Given the description of an element on the screen output the (x, y) to click on. 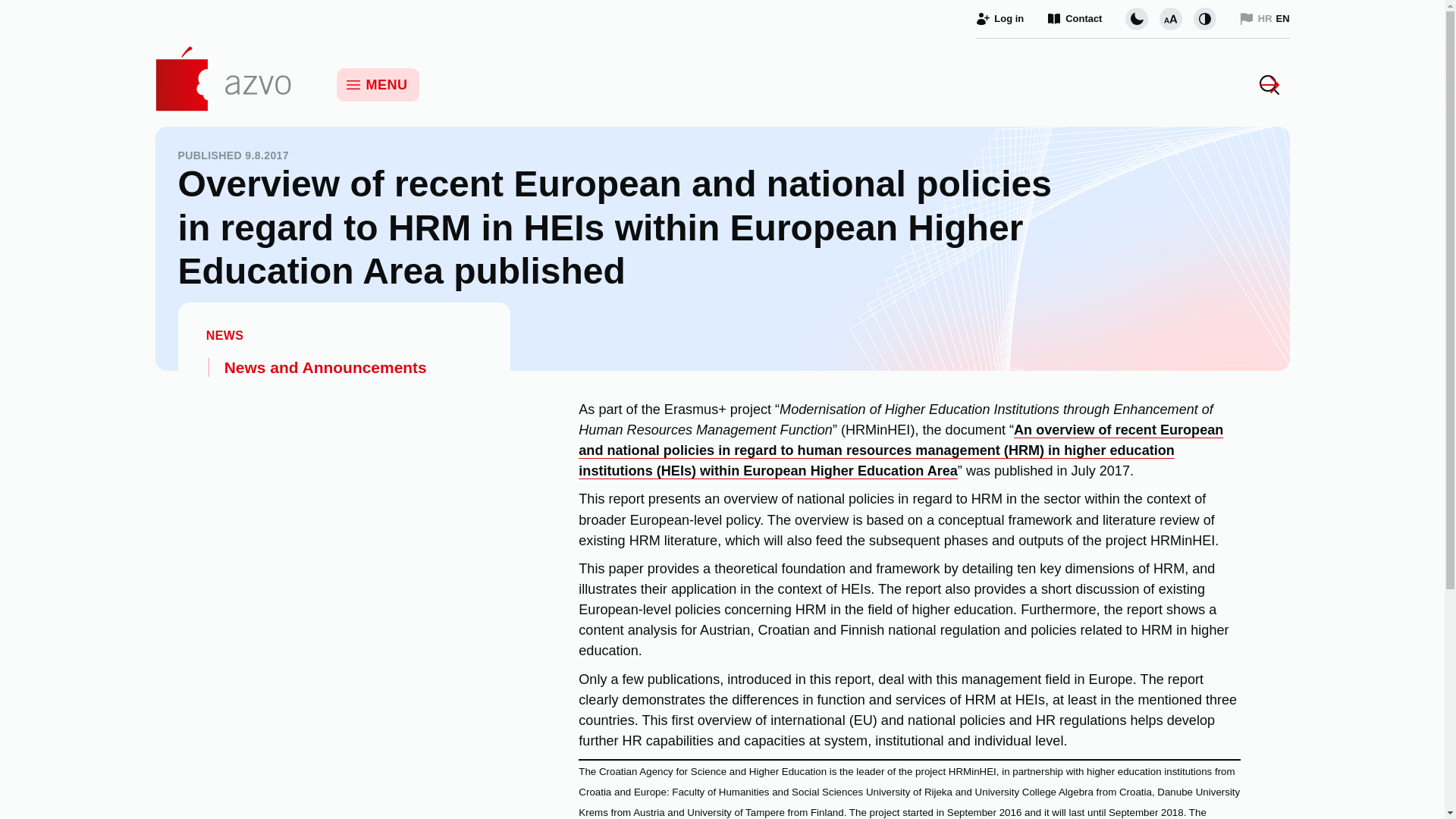
HR (1255, 18)
MENU (377, 84)
Log in (999, 18)
EN (1281, 18)
Contact (1074, 18)
